Given the description of an element on the screen output the (x, y) to click on. 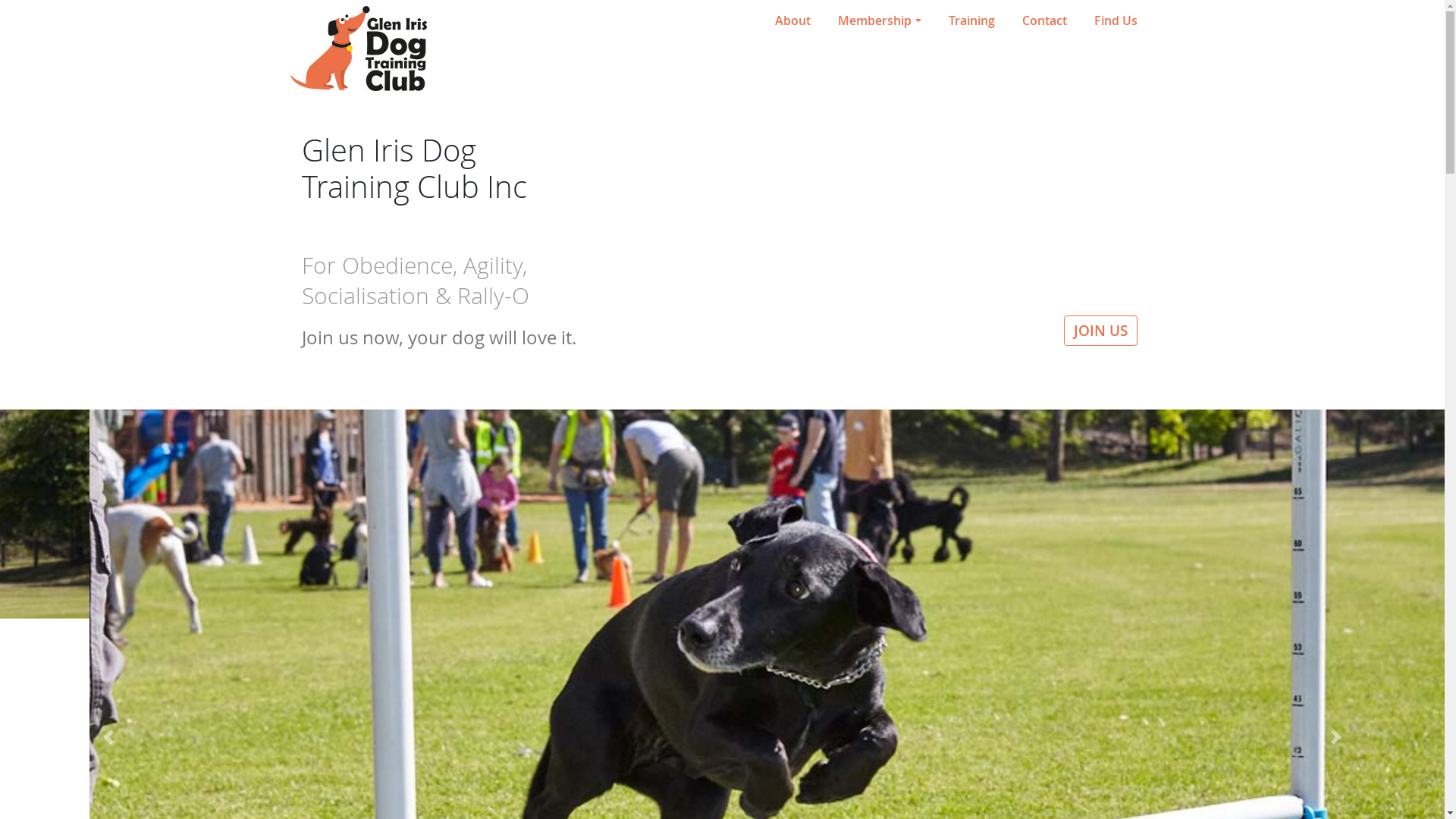
Contact Element type: text (1044, 20)
Find Us Element type: text (1114, 20)
Training Element type: text (970, 20)
Membership Element type: text (878, 20)
About Element type: text (792, 20)
JOIN US Element type: text (1099, 330)
